Given the description of an element on the screen output the (x, y) to click on. 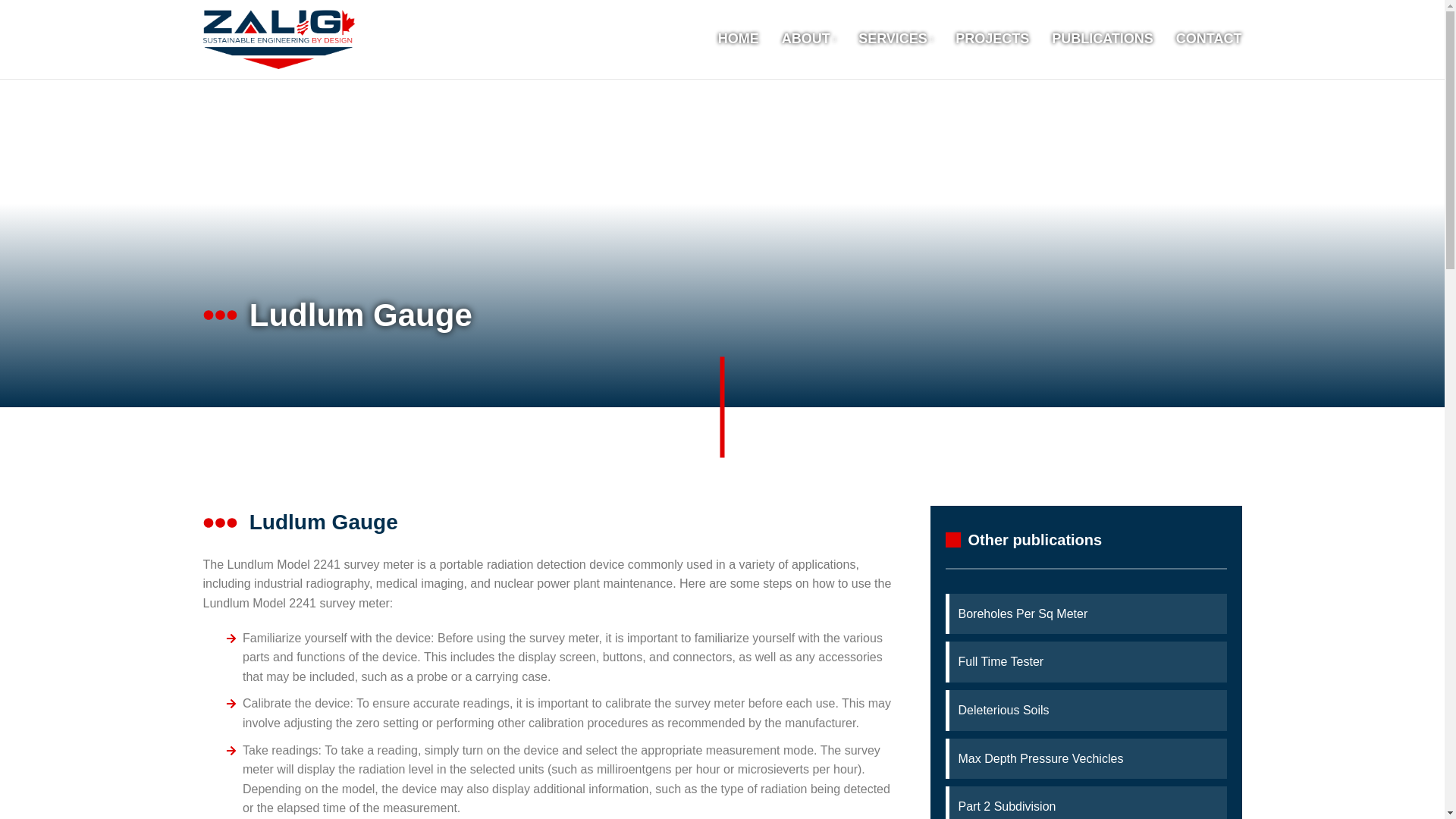
ABOUT (808, 39)
CONTACT (1208, 39)
Part 2 Subdivision (1087, 806)
Full Time Tester (1087, 661)
HOME (737, 39)
PROJECTS (992, 39)
PUBLICATIONS (1102, 39)
Deleterious Soils (1087, 710)
Max Depth Pressure Vechicles (1087, 759)
Boreholes Per Sq Meter (1087, 614)
